Given the description of an element on the screen output the (x, y) to click on. 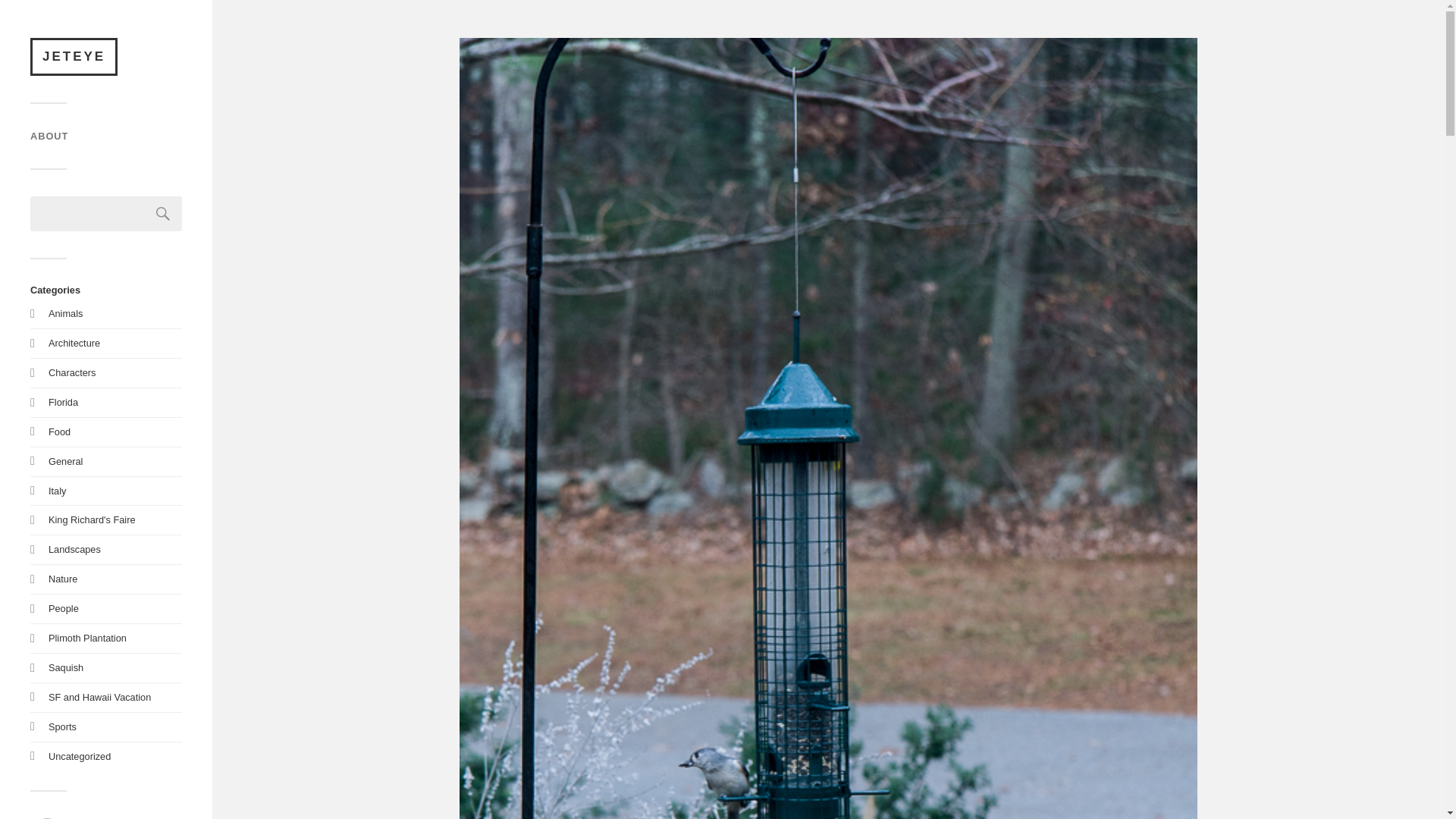
Landscapes (74, 549)
ABOUT (49, 135)
Saquish (65, 667)
Animals (65, 313)
Search (163, 213)
Florida (163, 213)
JETEYE (63, 401)
King Richard's Faire (73, 56)
Uncategorized (91, 519)
Nature (79, 756)
Food (62, 578)
Sports (58, 431)
Italy (62, 726)
